Given the description of an element on the screen output the (x, y) to click on. 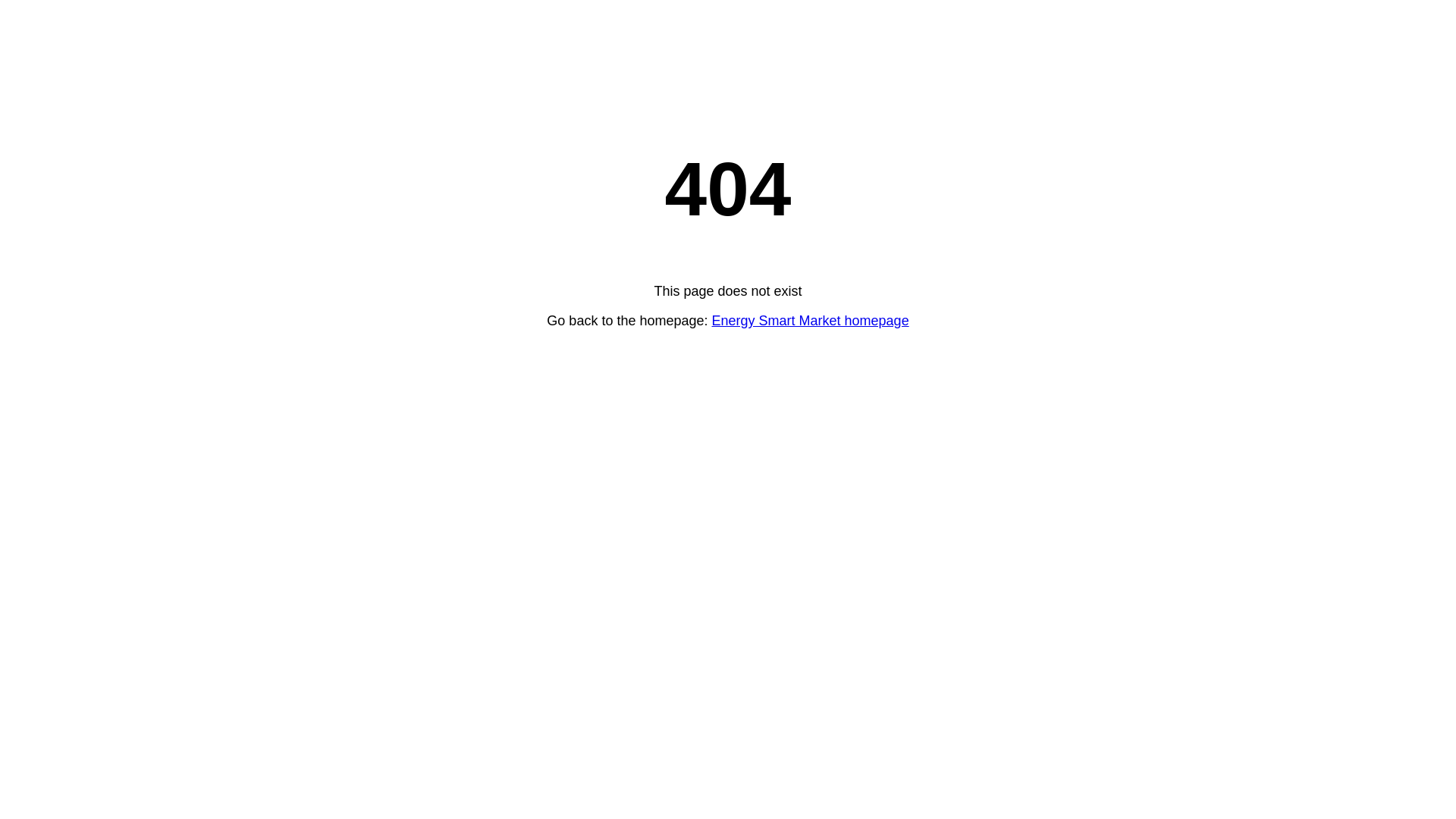
Energy Smart Market homepage Element type: text (810, 320)
